Given the description of an element on the screen output the (x, y) to click on. 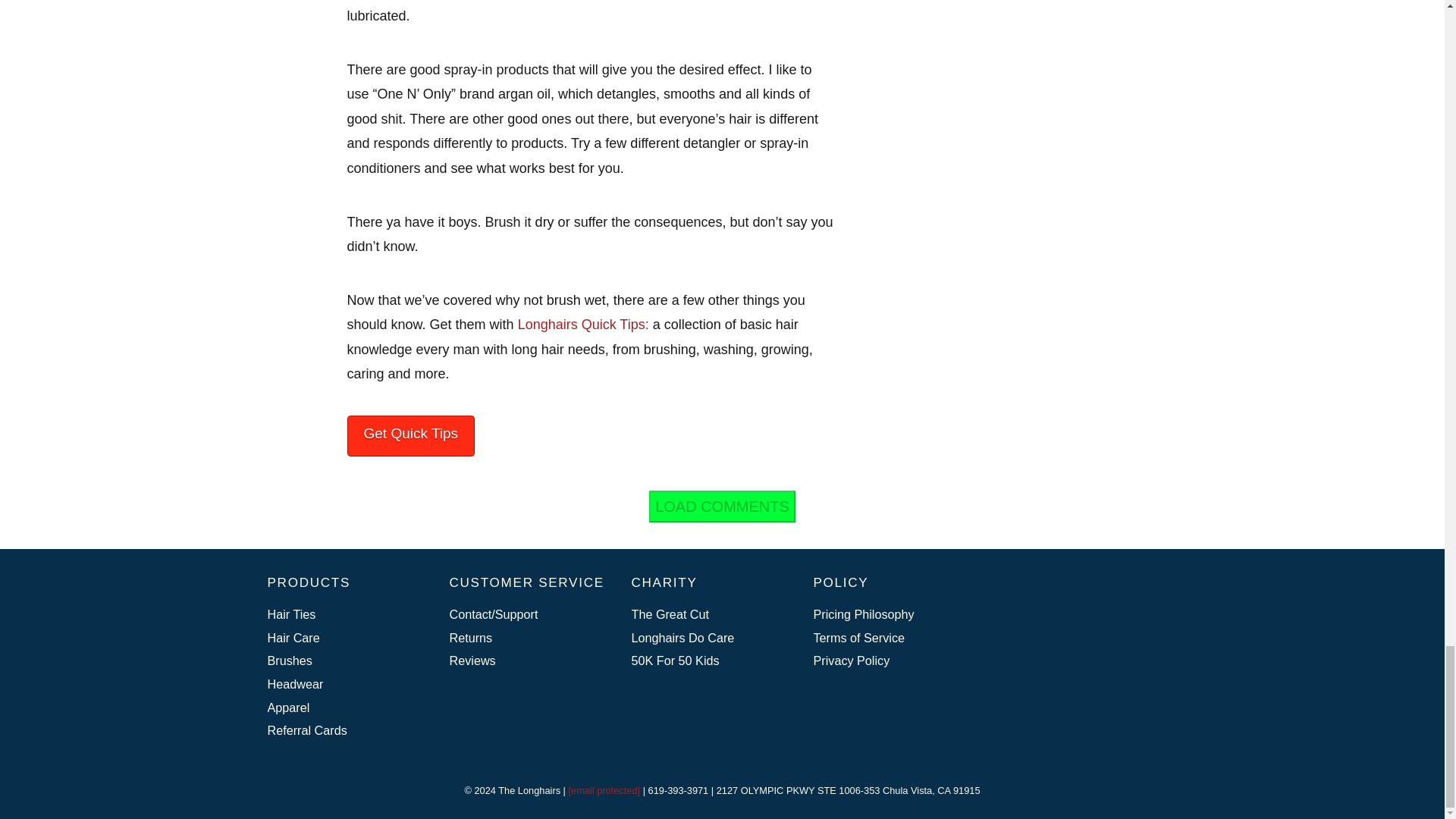
Hair Care (344, 638)
Longhairs Do Care (708, 638)
Get Quick Tips (411, 435)
Privacy Policy (890, 660)
50K For 50 Kids (708, 660)
Returns (526, 638)
Terms of Service (890, 638)
LOAD COMMENTS (721, 506)
Hair Ties (344, 614)
Reviews (526, 660)
Headwear (344, 684)
Referral Cards (344, 730)
Brushes (344, 660)
The Great Cut (708, 614)
Longhairs Quick Tips: (583, 324)
